Given the description of an element on the screen output the (x, y) to click on. 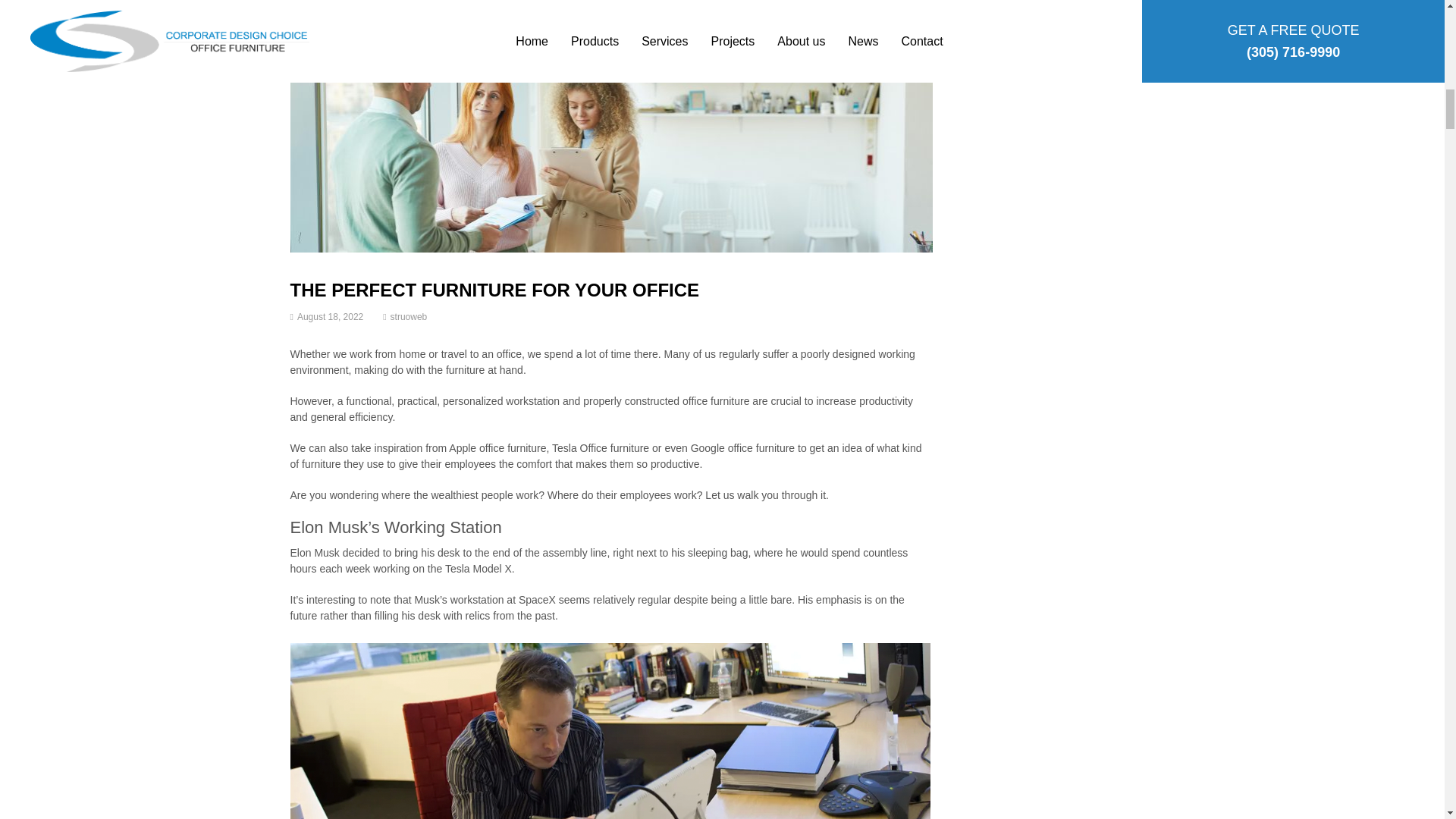
THE PERFECT FURNITURE FOR YOUR OFFICE (493, 290)
struoweb (409, 317)
August 18, 2022 (329, 317)
